Given the description of an element on the screen output the (x, y) to click on. 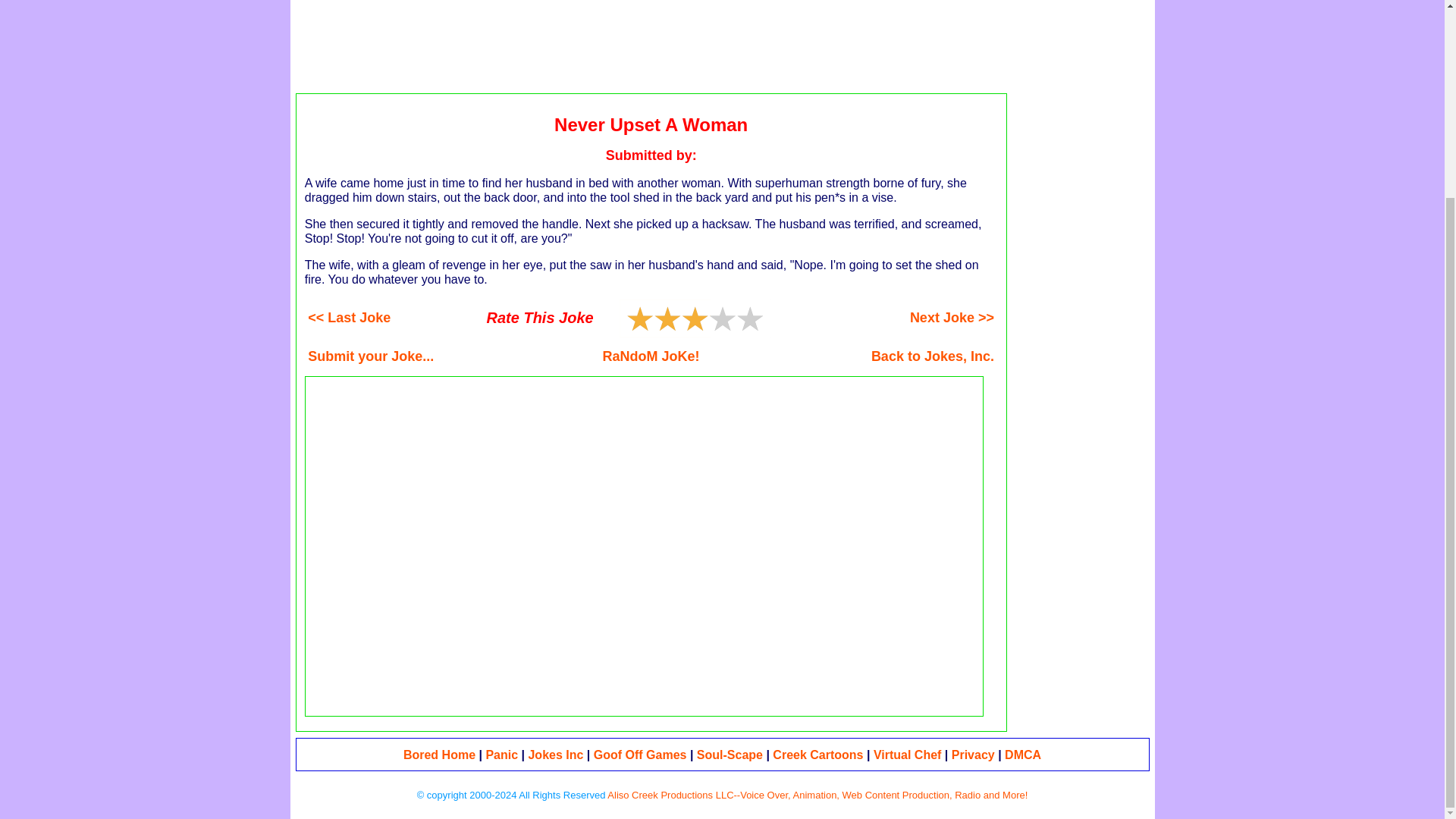
Advertisement (718, 38)
Rating of 2 (650, 318)
Rating of 5 (695, 318)
Rating of 3 (665, 318)
Rating of 4 (678, 318)
Rating of 1 (636, 318)
